Given the description of an element on the screen output the (x, y) to click on. 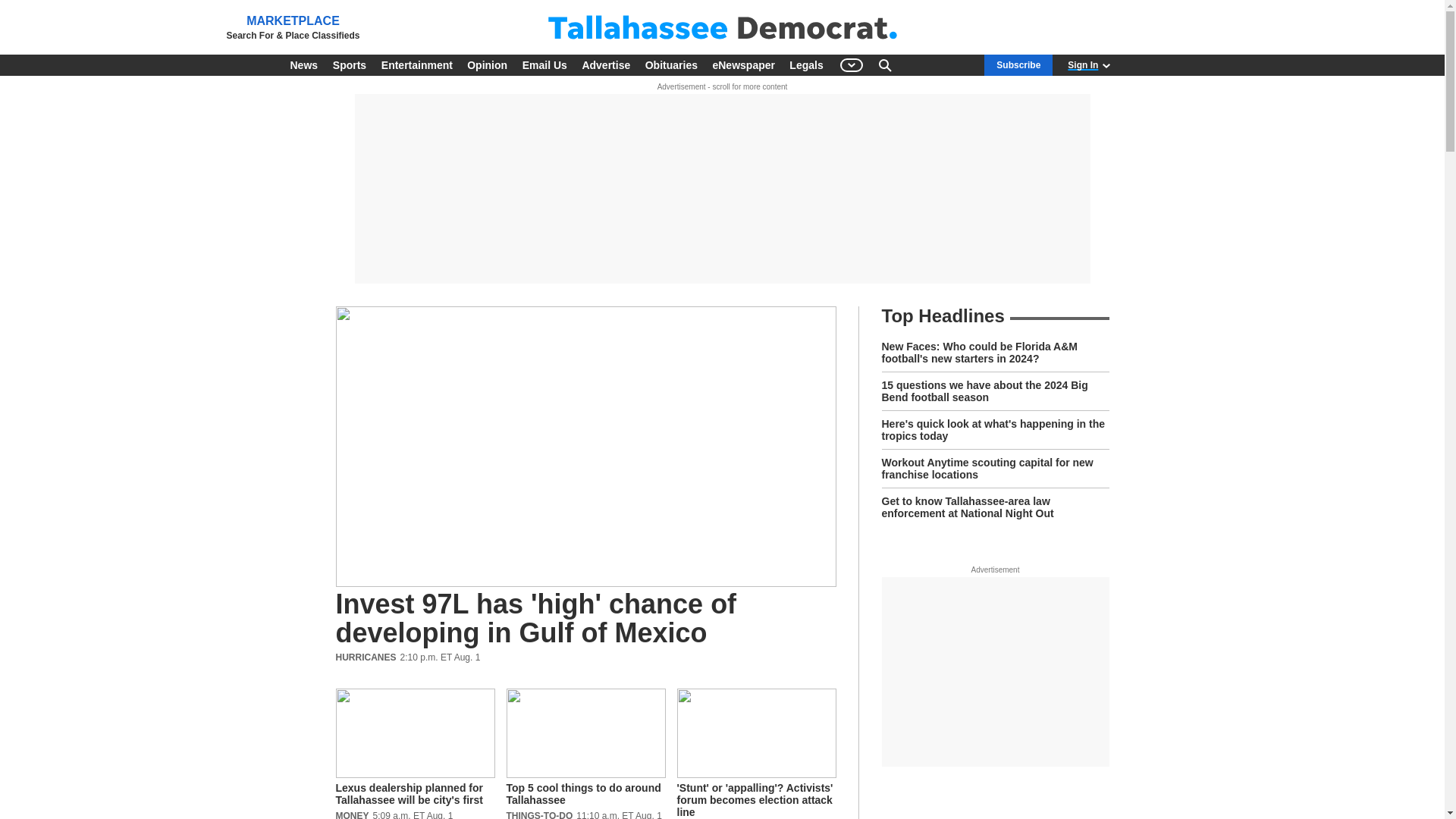
Sports (349, 65)
Obituaries (670, 65)
eNewspaper (742, 65)
Search (885, 65)
Legals (805, 65)
Opinion (486, 65)
News (303, 65)
Advertise (605, 65)
Entertainment (417, 65)
Email Us (545, 65)
Top 5 cool things to do around Tallahassee (585, 753)
